Given the description of an element on the screen output the (x, y) to click on. 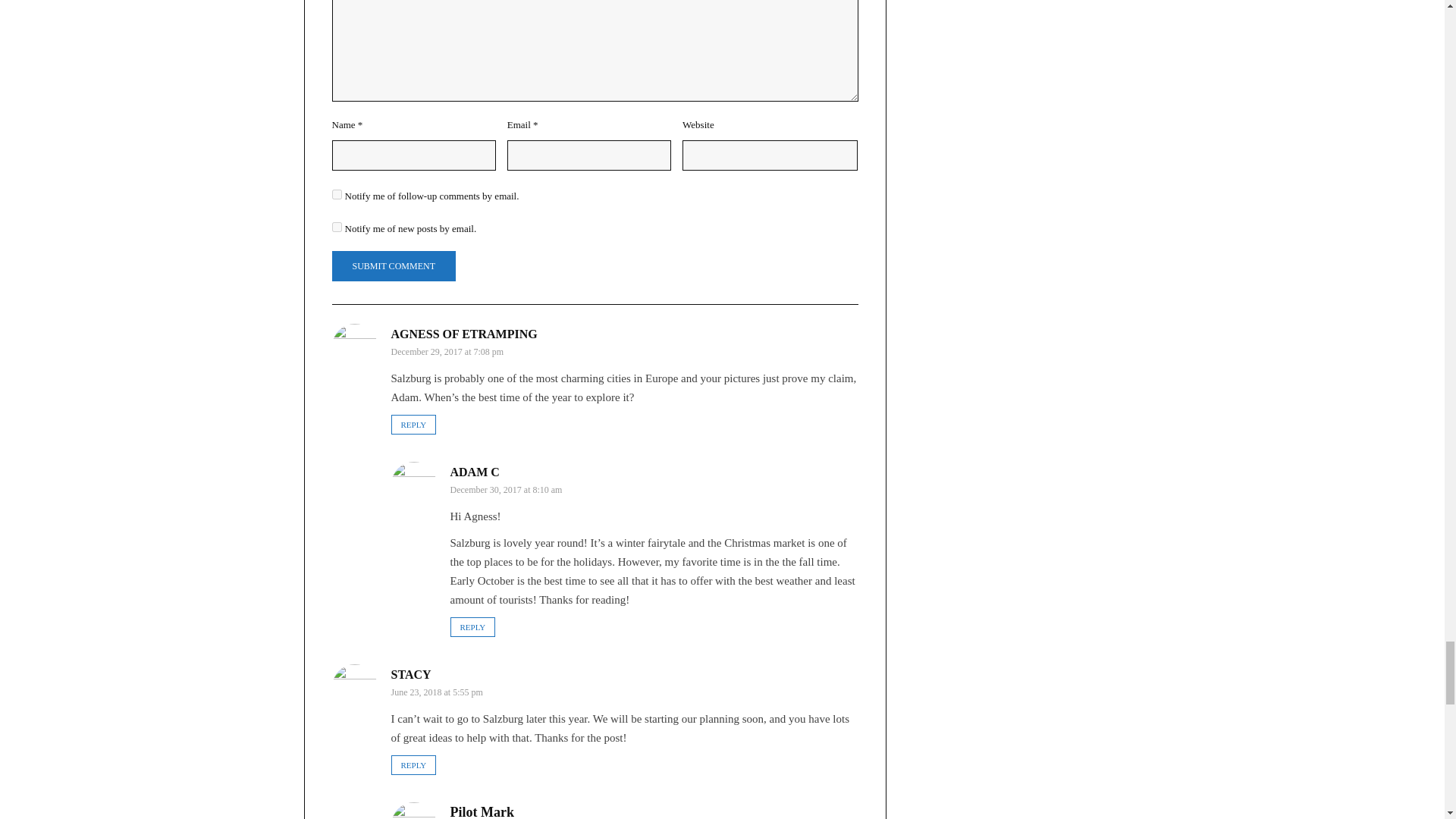
subscribe (336, 226)
subscribe (336, 194)
Submit Comment (393, 265)
